Given the description of an element on the screen output the (x, y) to click on. 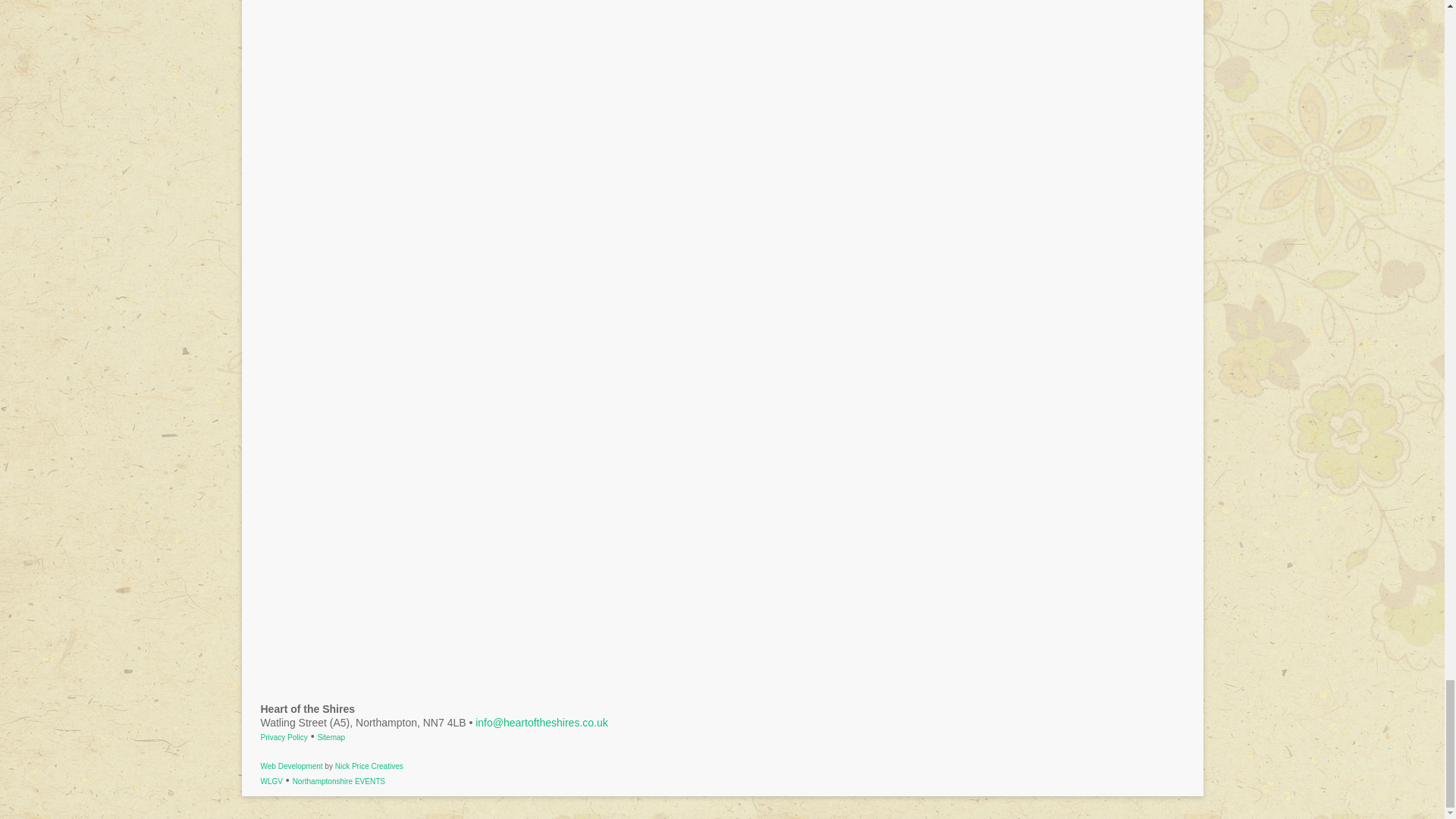
web design Daventry (368, 766)
Web Design Rugby (291, 766)
Northamptonshire Events (338, 781)
